Given the description of an element on the screen output the (x, y) to click on. 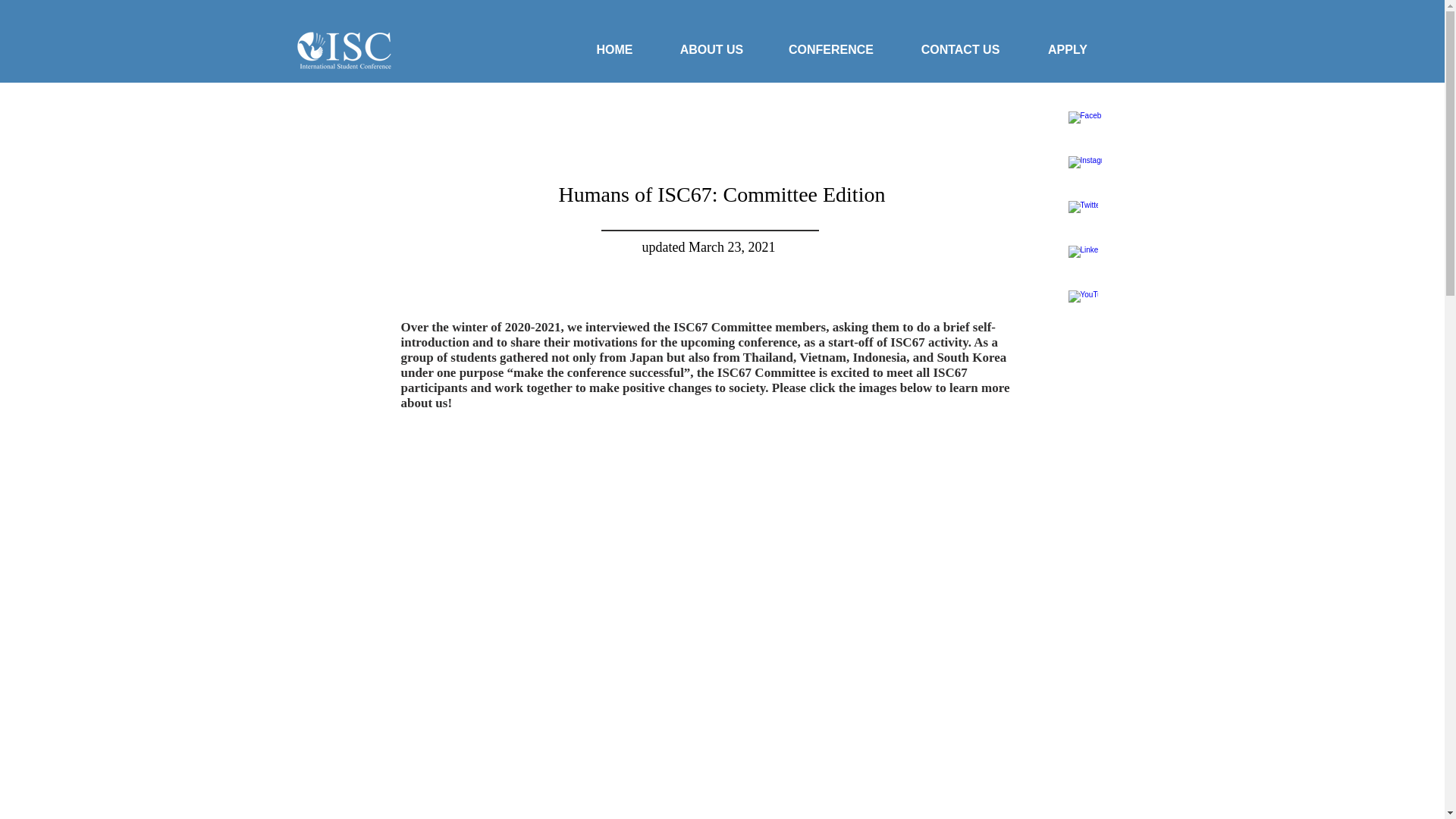
HOME (614, 49)
ISC White Logo.png (343, 50)
